Given the description of an element on the screen output the (x, y) to click on. 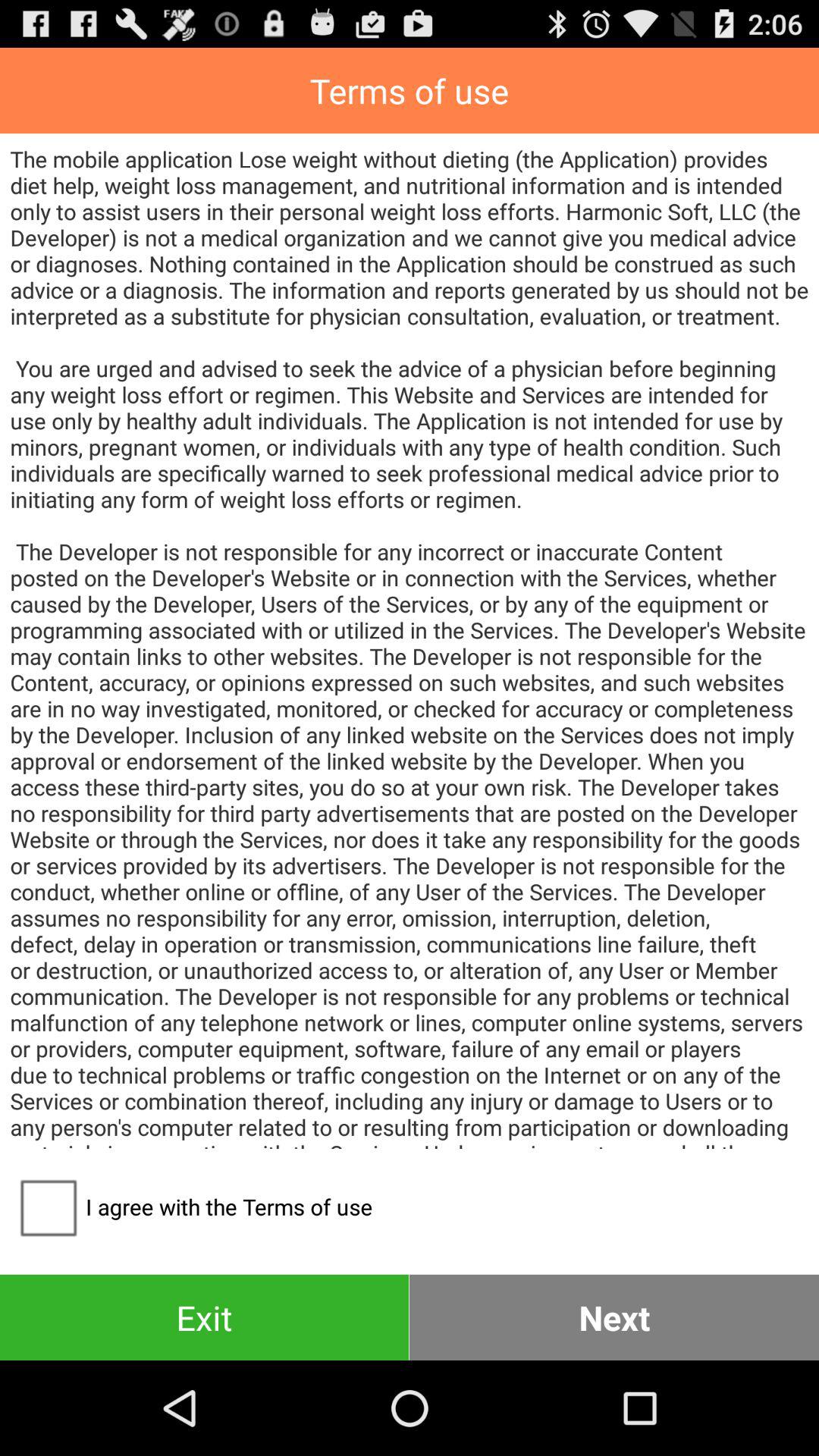
turn off item at the bottom right corner (614, 1317)
